Given the description of an element on the screen output the (x, y) to click on. 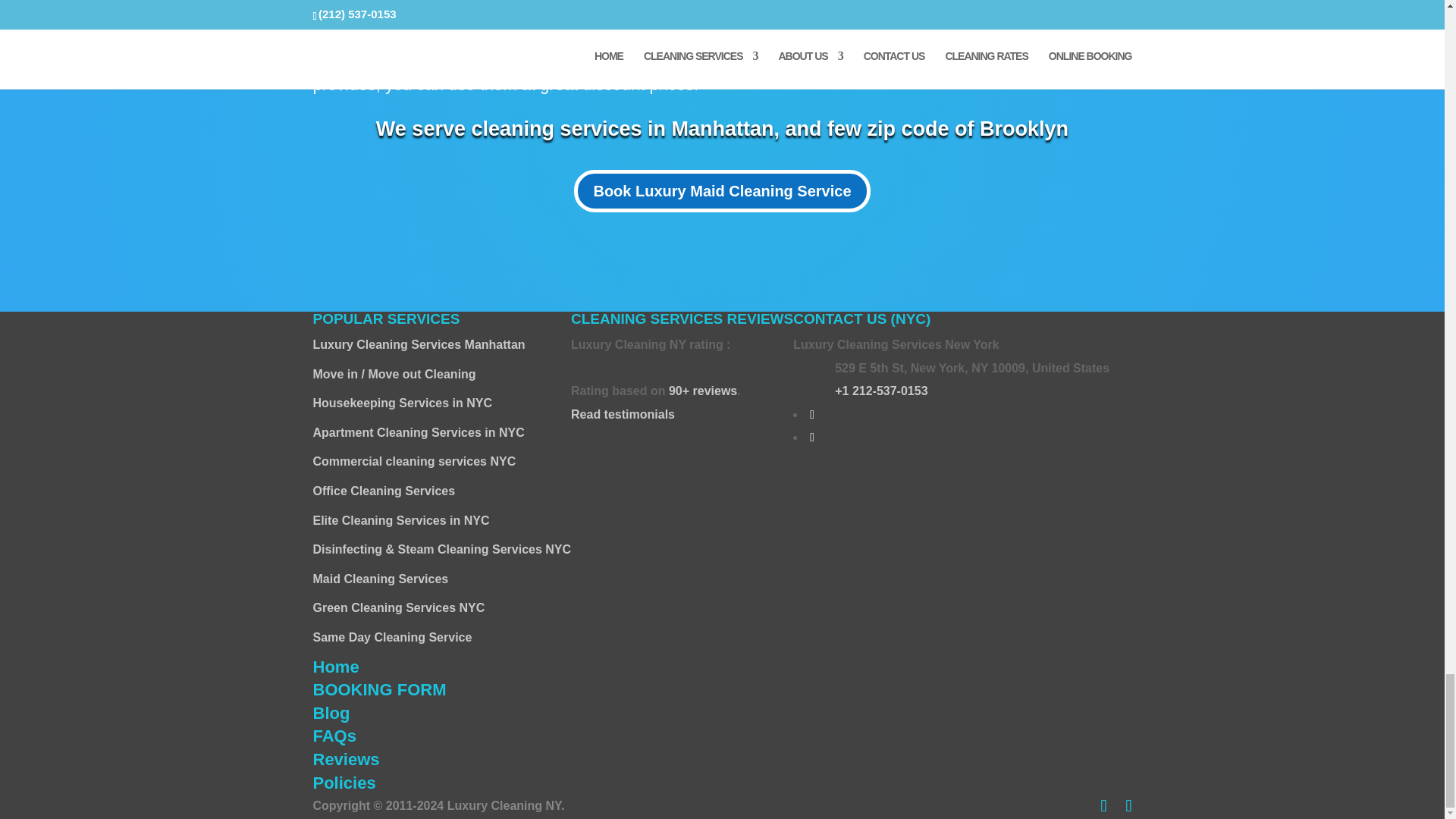
Gorgeous (603, 363)
Gorgeous (576, 363)
Green Cleaning Services NYC (398, 607)
Gorgeous (628, 363)
Maid Cleaning Services (380, 578)
Elite Cleaning Services in NYC (401, 520)
Read testimonials (655, 425)
Housekeeping Services in NYC (402, 402)
Same Day Cleaning Service (392, 636)
Office Cleaning Services (383, 490)
